Given the description of an element on the screen output the (x, y) to click on. 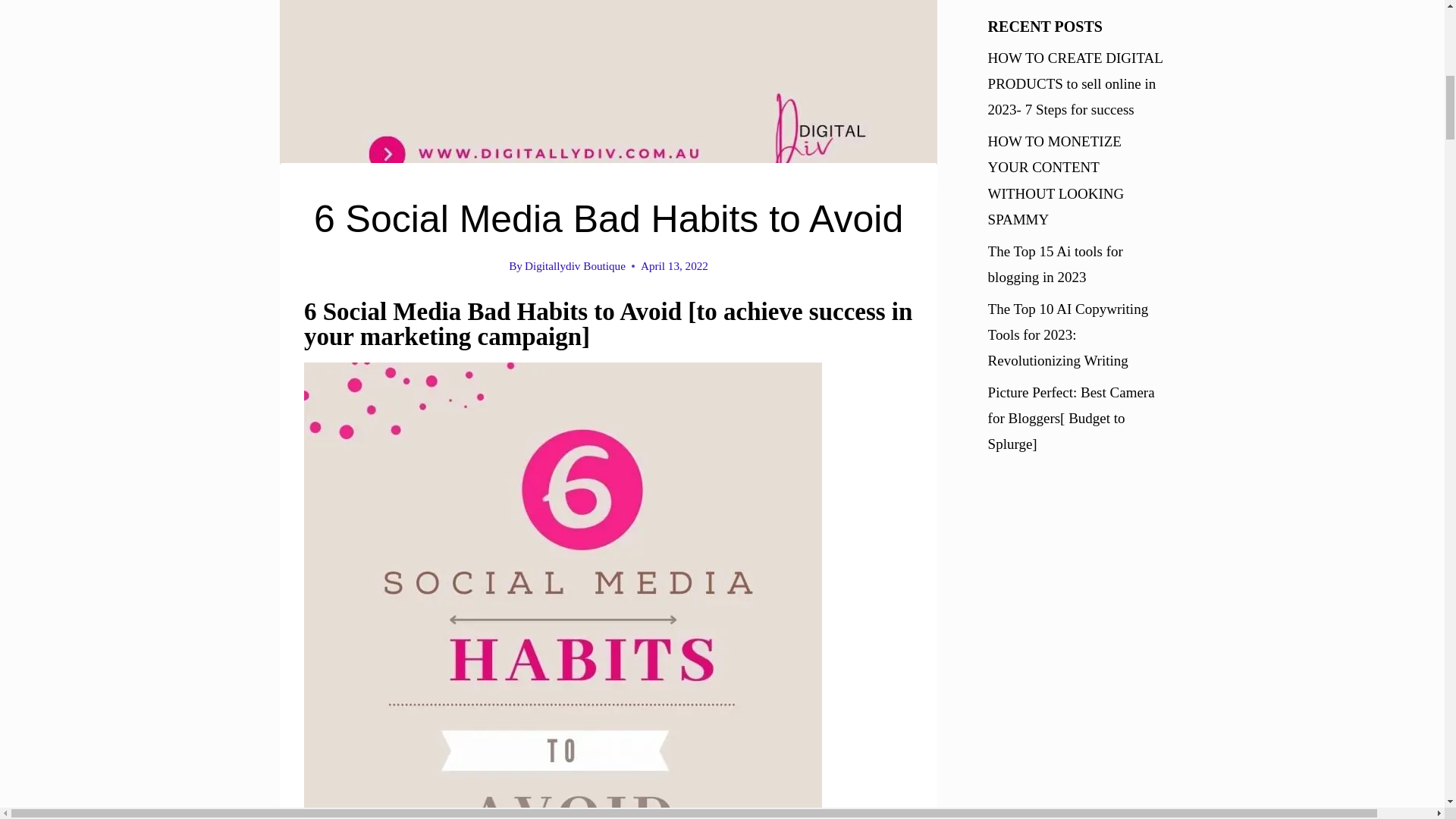
Digitallydiv Boutique (575, 265)
